Given the description of an element on the screen output the (x, y) to click on. 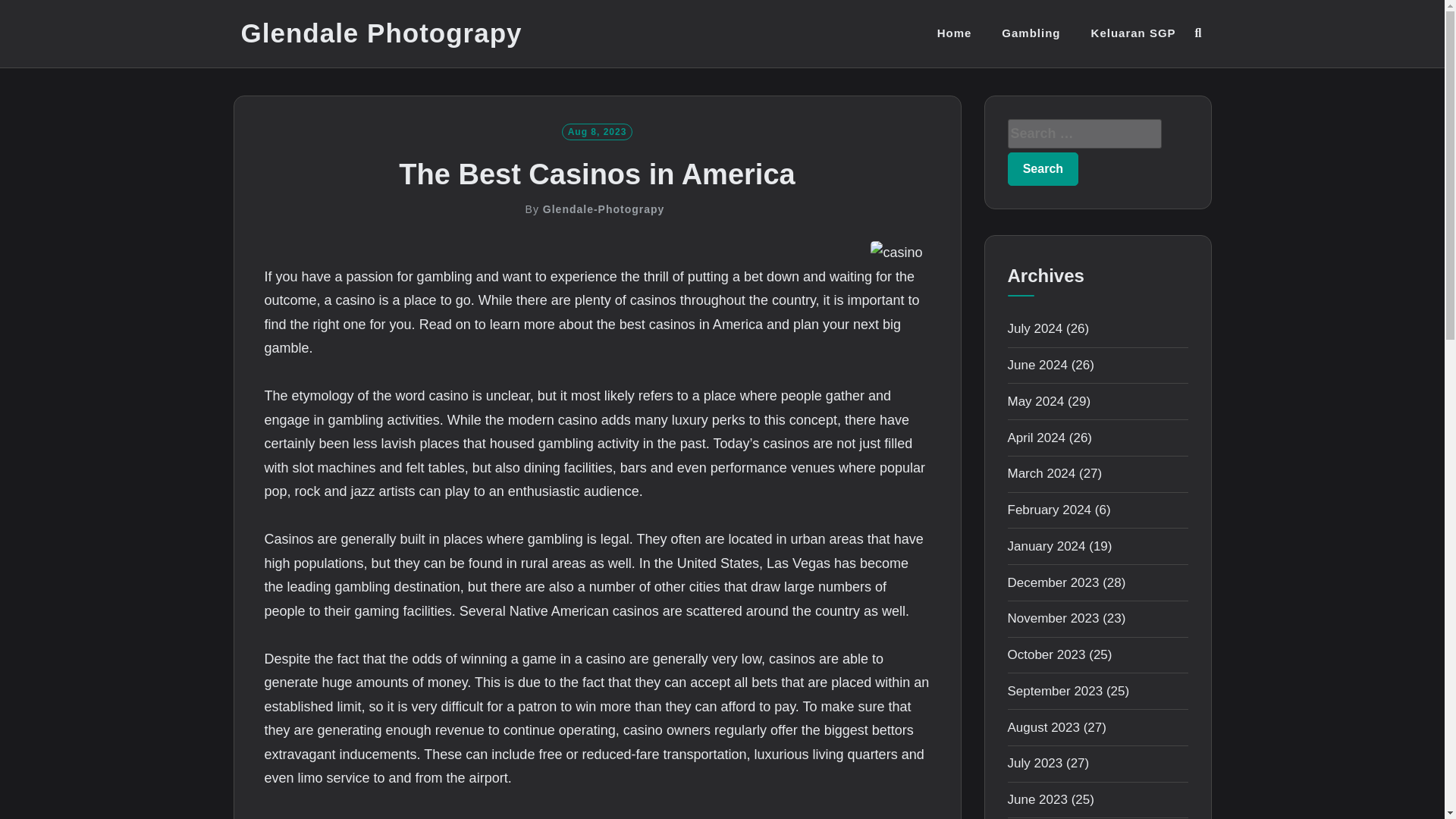
November 2023 (1053, 617)
Search (1042, 168)
June 2023 (1037, 799)
July 2024 (1034, 328)
January 2024 (1045, 545)
Glendale Photograpy (381, 33)
September 2023 (1054, 690)
August 2023 (1042, 727)
Home (954, 33)
December 2023 (1053, 582)
February 2024 (1048, 509)
October 2023 (1045, 654)
April 2024 (1036, 437)
Search (1042, 168)
July 2023 (1034, 762)
